Given the description of an element on the screen output the (x, y) to click on. 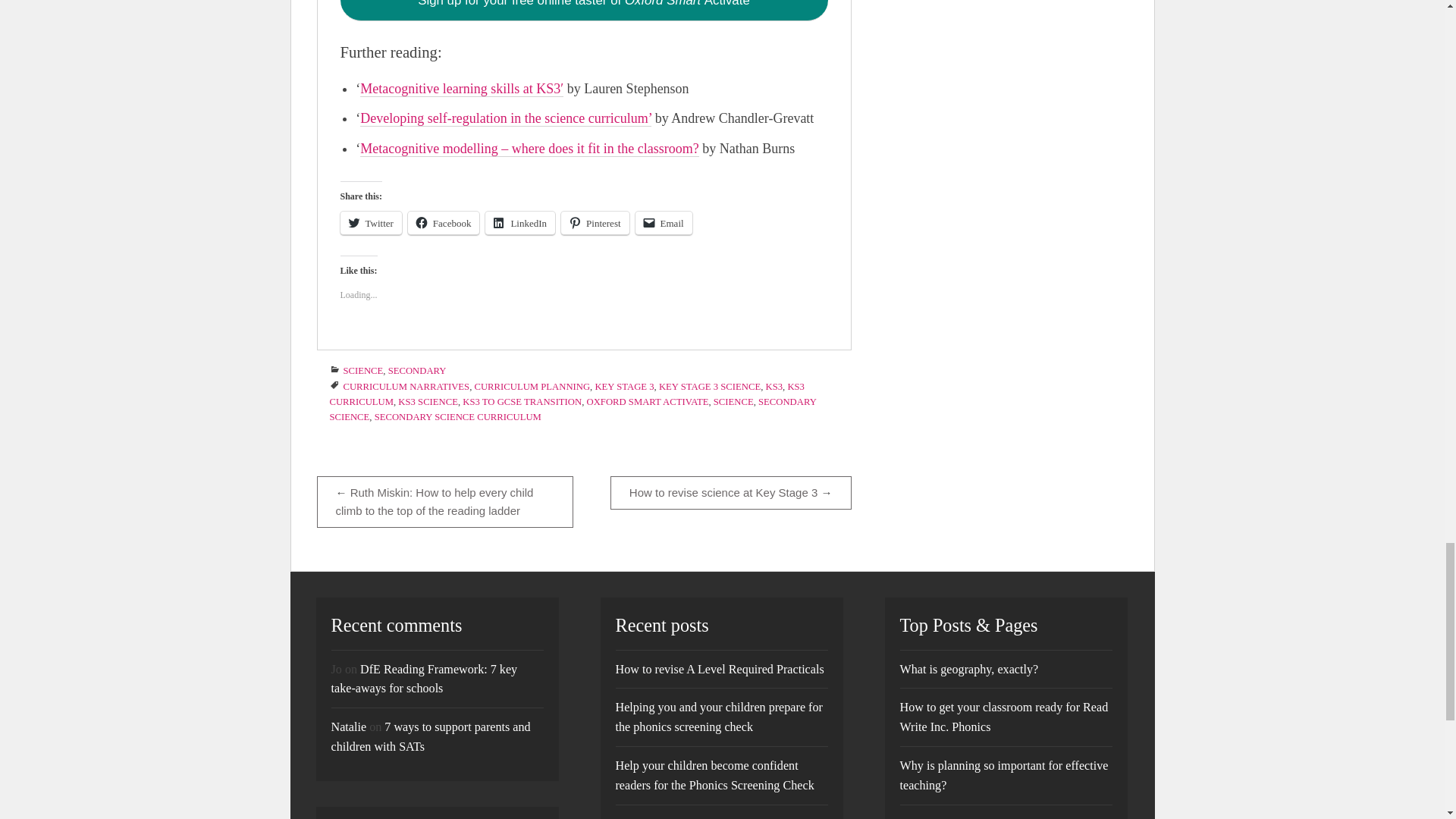
Click to email a link to a friend (663, 223)
CURRICULUM NARRATIVES (405, 386)
Click to share on Twitter (370, 223)
SECONDARY (417, 370)
Sign up for your free online taster of Oxford Smart Activate (583, 10)
Click to share on LinkedIn (519, 223)
Email (663, 223)
Click to share on Facebook (443, 223)
Click to share on Pinterest (594, 223)
Pinterest (594, 223)
